Given the description of an element on the screen output the (x, y) to click on. 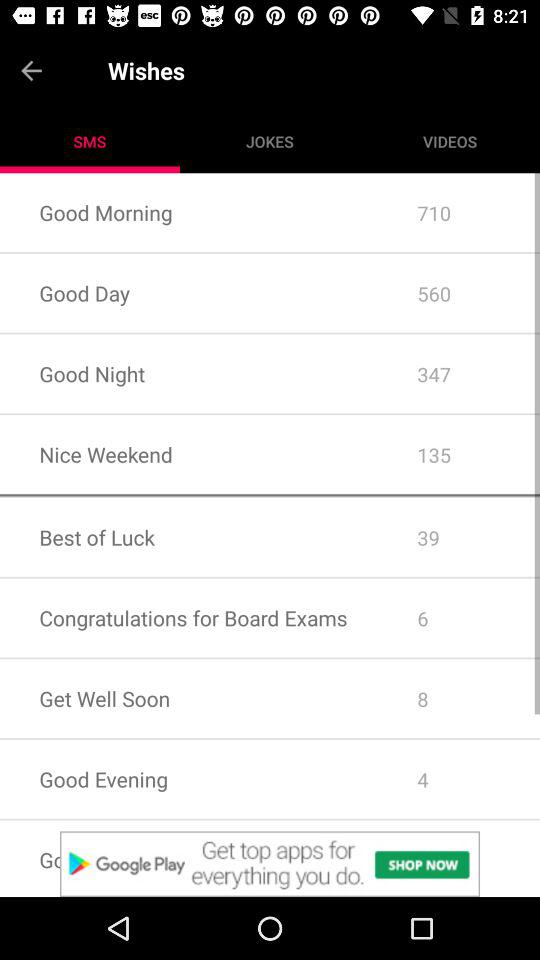
choose 39 item (458, 537)
